Given the description of an element on the screen output the (x, y) to click on. 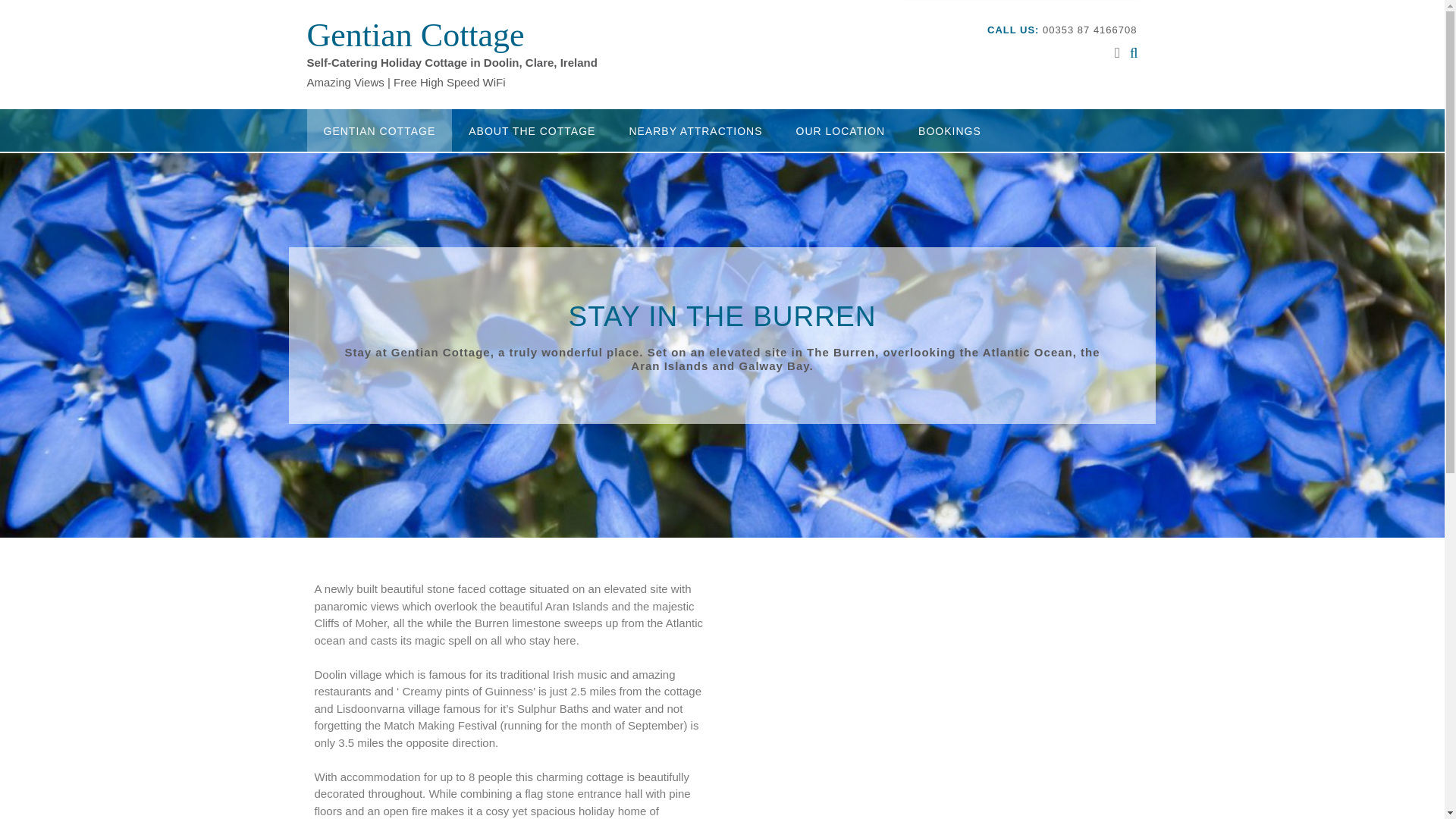
NEARBY ATTRACTIONS (694, 129)
GENTIAN COTTAGE (378, 129)
BOOKINGS (949, 129)
Gentian Cottage (414, 35)
Gentian Cottage (414, 35)
OUR LOCATION (840, 129)
ABOUT THE COTTAGE (531, 129)
